Given the description of an element on the screen output the (x, y) to click on. 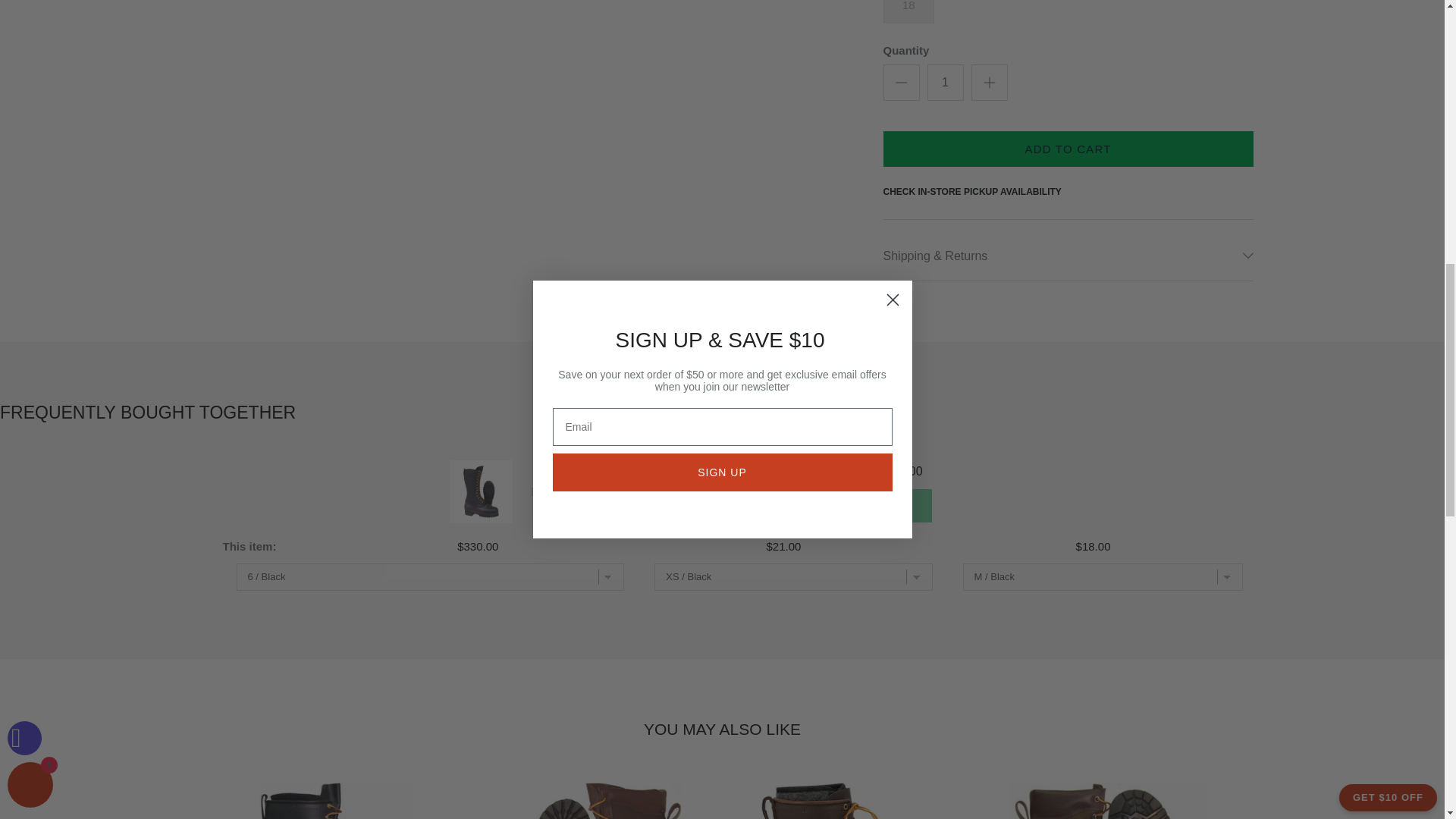
1 (944, 82)
Minus (900, 82)
Plus (988, 82)
